Given the description of an element on the screen output the (x, y) to click on. 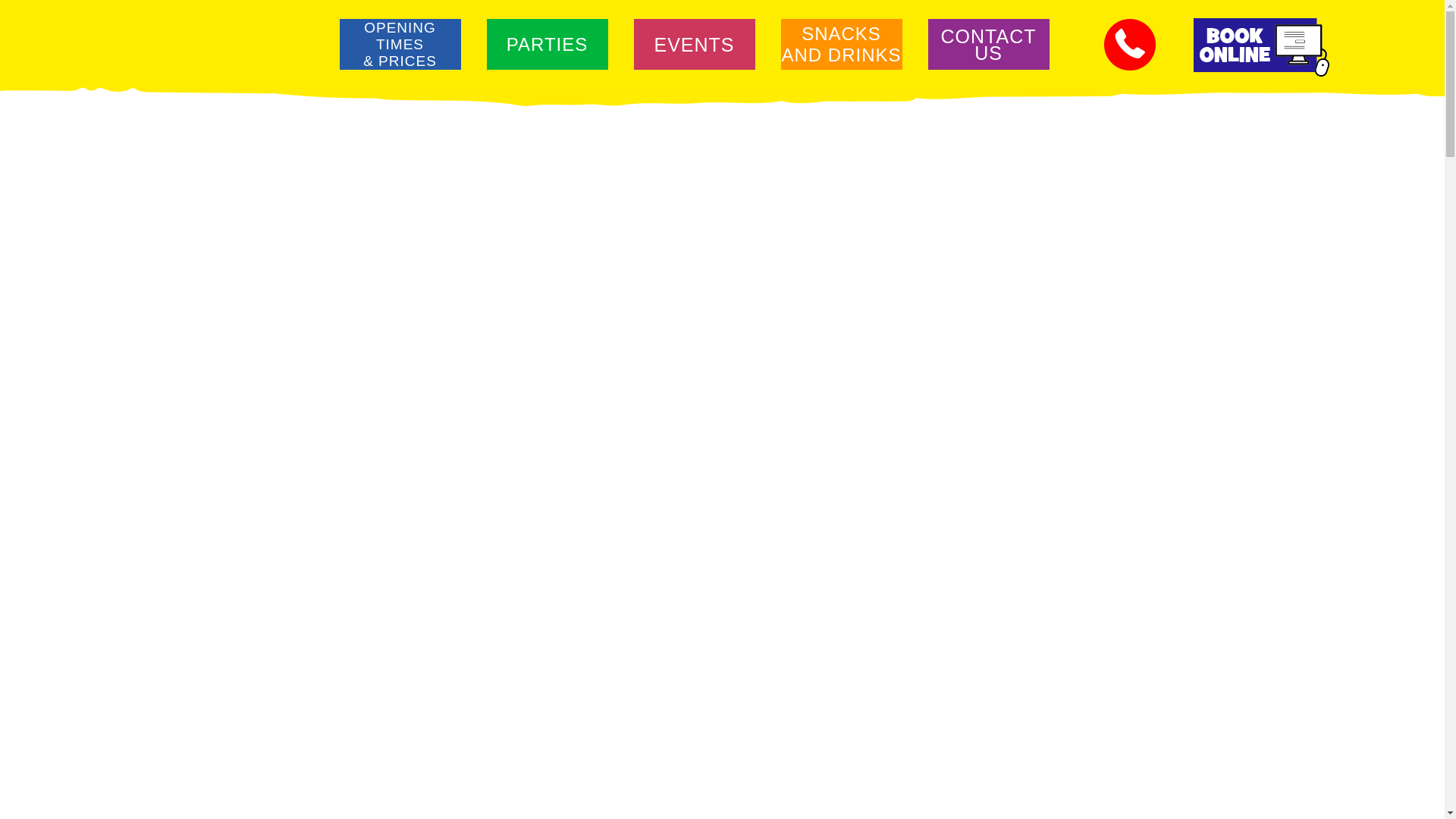
SNACKS AND DRINKS (840, 34)
PARTIES (987, 34)
EVENTS (546, 34)
